Given the description of an element on the screen output the (x, y) to click on. 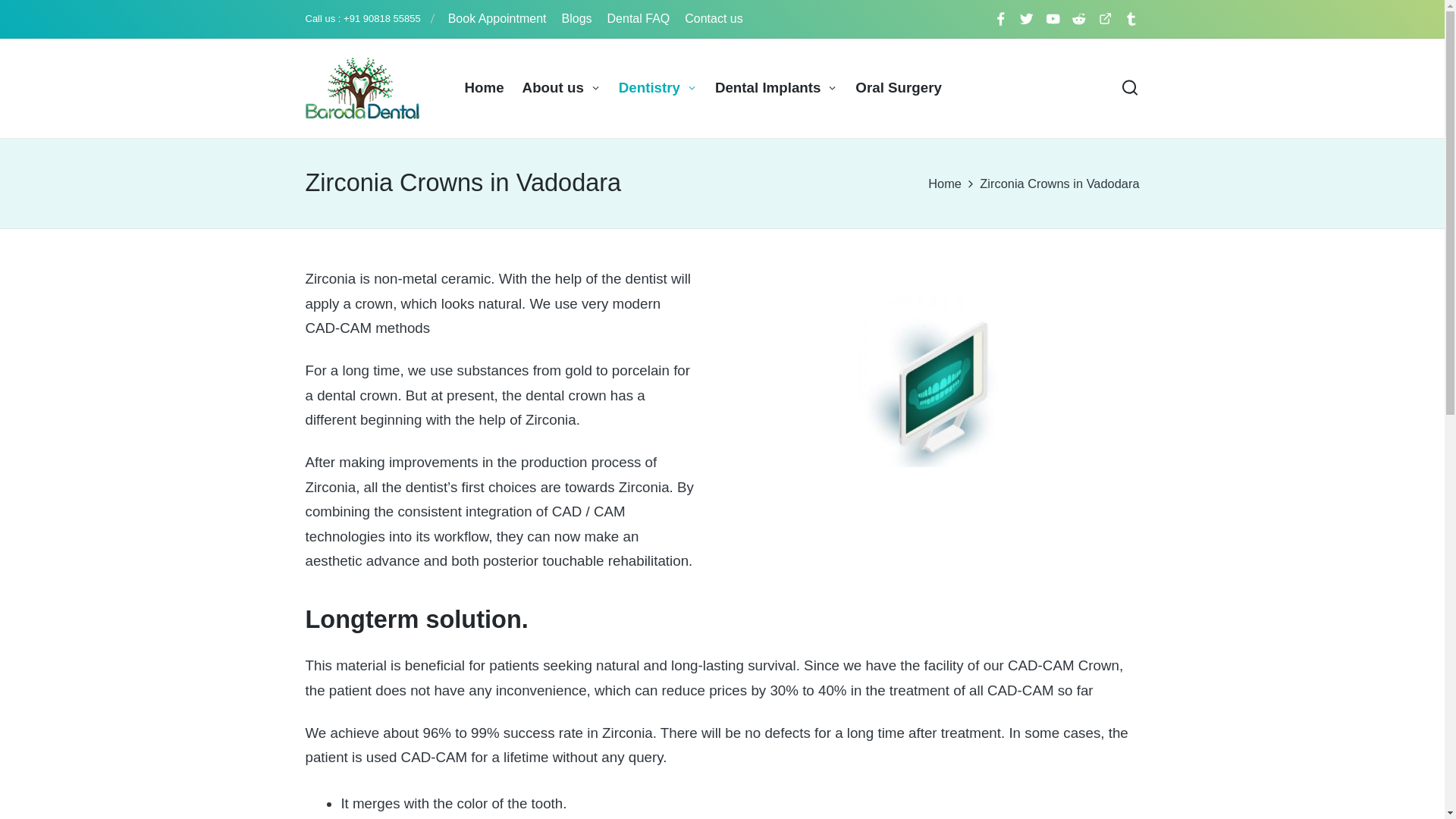
Dental FAQ (638, 18)
About us (560, 87)
Menu Item (1131, 18)
Dental Implants (775, 87)
Menu Item (1000, 18)
Home (483, 87)
Menu Item (1104, 18)
Menu Item (1026, 18)
Contact us (713, 18)
Book Appointment (497, 18)
